Given the description of an element on the screen output the (x, y) to click on. 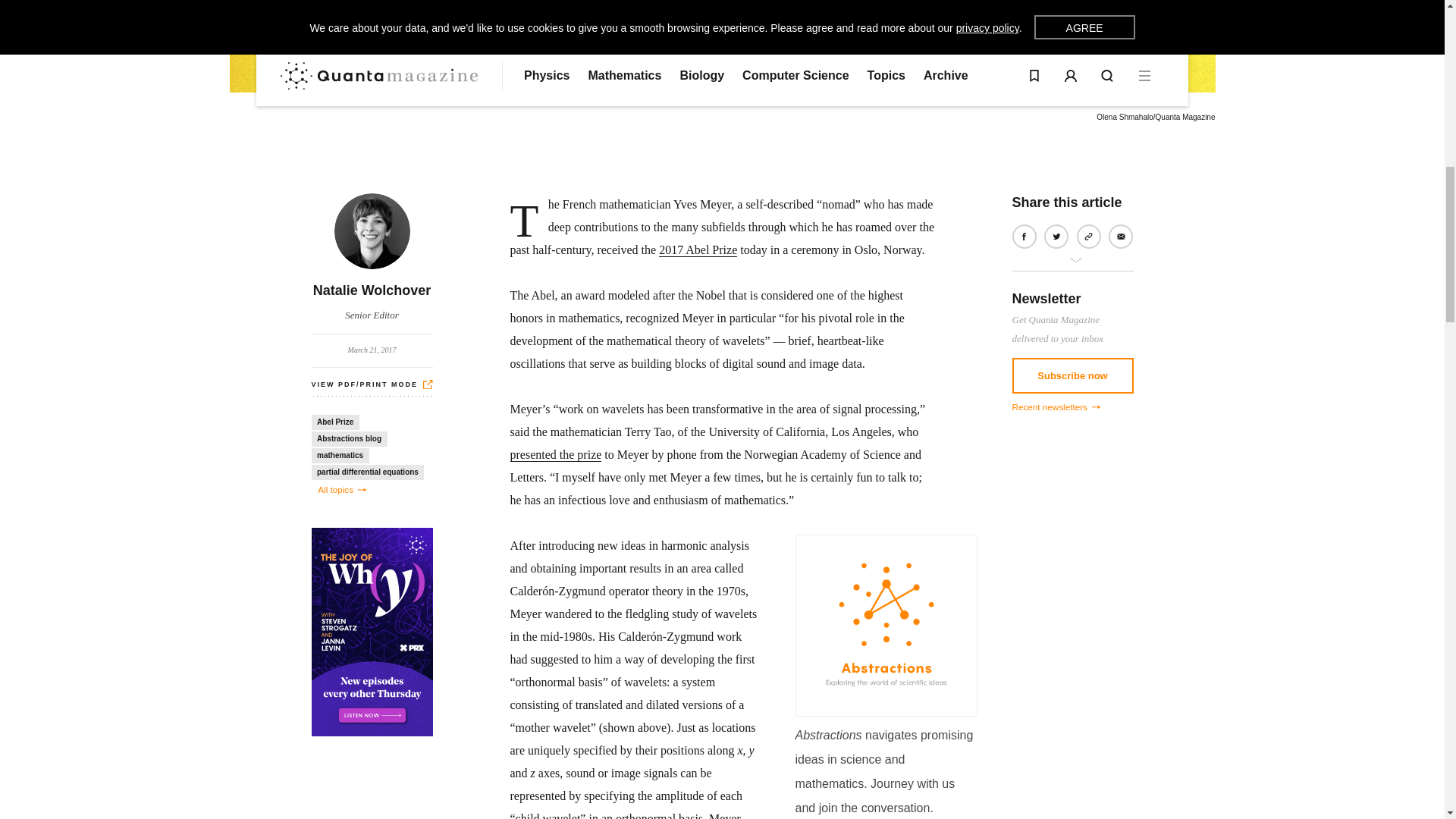
mathematics (339, 455)
Abel Prize (334, 421)
partial differential equations (367, 472)
Abstractions blog (349, 438)
All topics (335, 489)
